Given the description of an element on the screen output the (x, y) to click on. 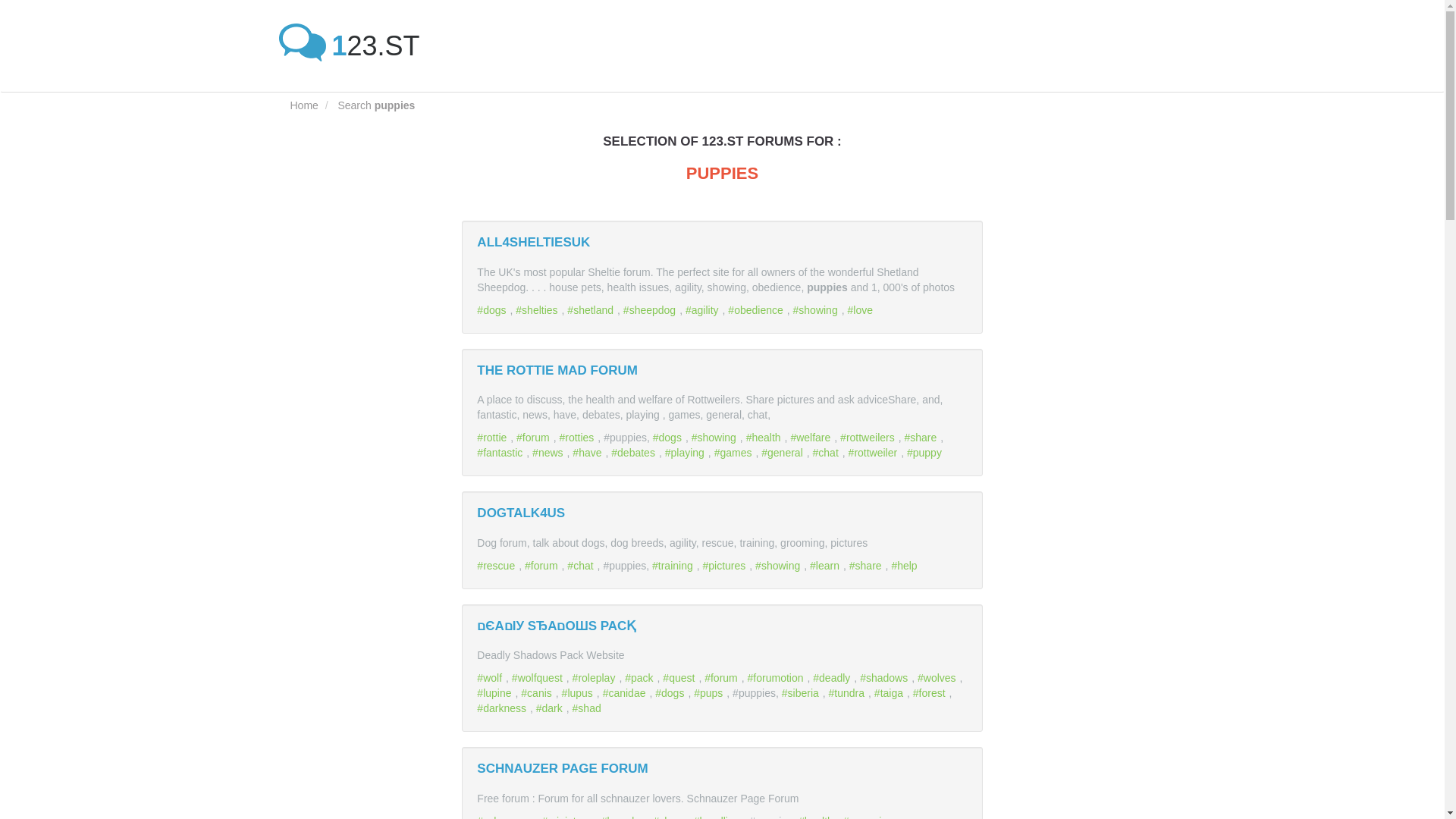
agility (703, 309)
forum (534, 437)
Home (303, 105)
love (861, 309)
playing (686, 452)
agility (703, 309)
rottie (494, 437)
puppy (925, 452)
chat (581, 565)
dogs (493, 309)
debates (635, 452)
training (674, 565)
rottweilers (869, 437)
obedience (757, 309)
general (783, 452)
